Given the description of an element on the screen output the (x, y) to click on. 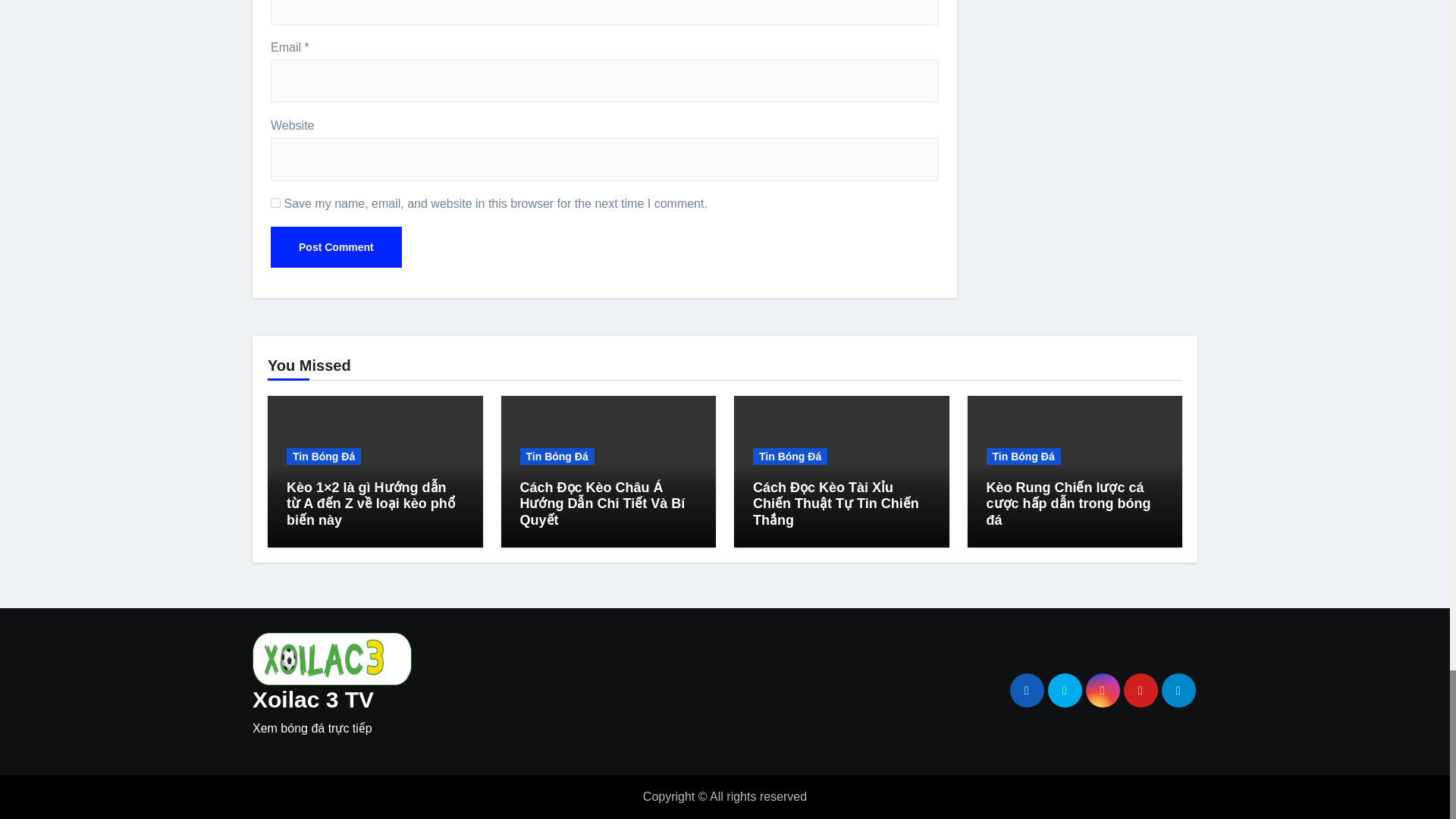
Post Comment (335, 246)
yes (275, 203)
